Given the description of an element on the screen output the (x, y) to click on. 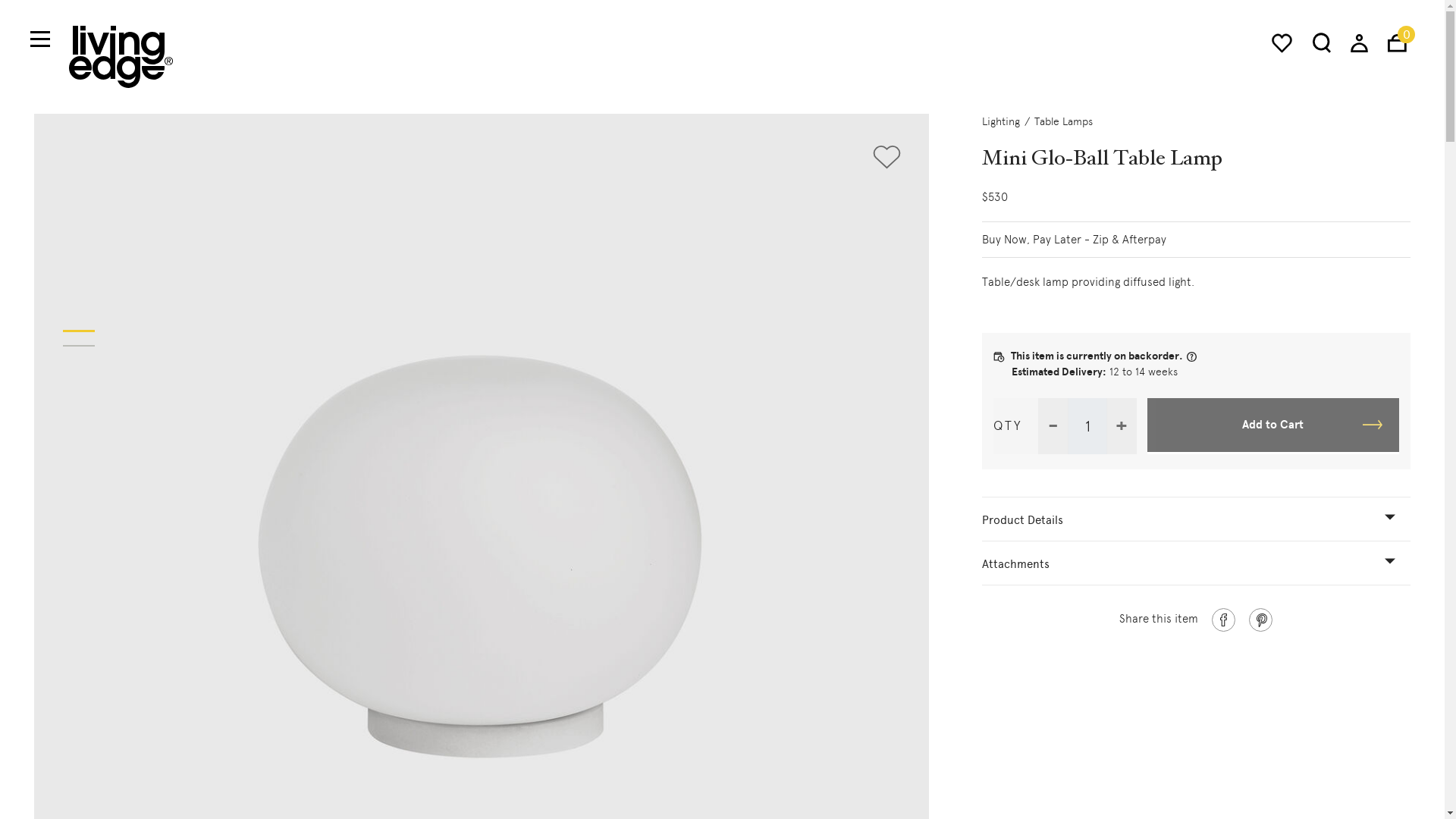
View Cart (1396, 42)
0 (1396, 42)
Living Edge Home (120, 56)
Menu (39, 38)
